Given the description of an element on the screen output the (x, y) to click on. 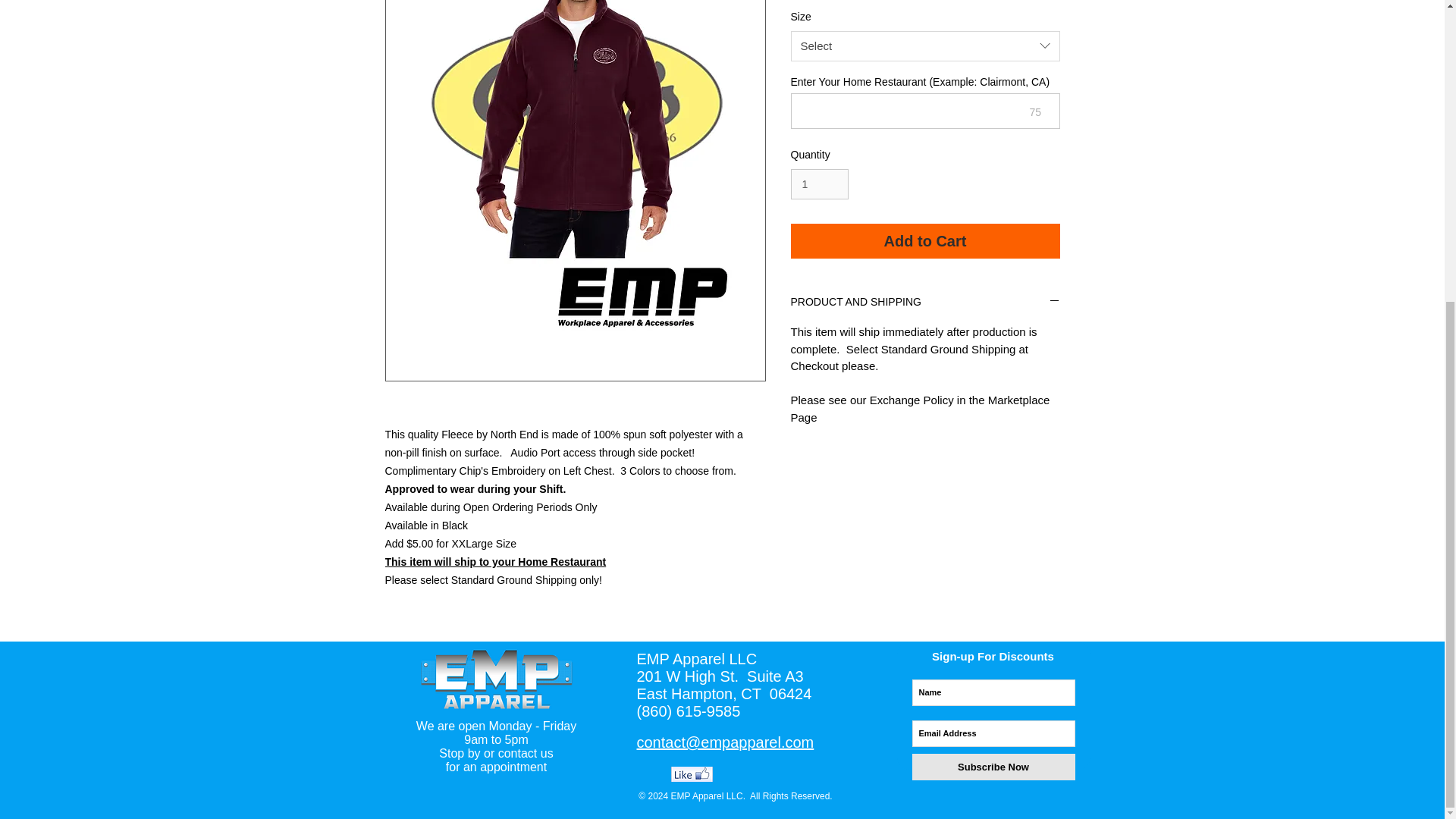
PRODUCT AND SHIPPING (924, 302)
Select (924, 46)
Add to Cart (924, 240)
1 (818, 183)
Subscribe Now (992, 766)
